Given the description of an element on the screen output the (x, y) to click on. 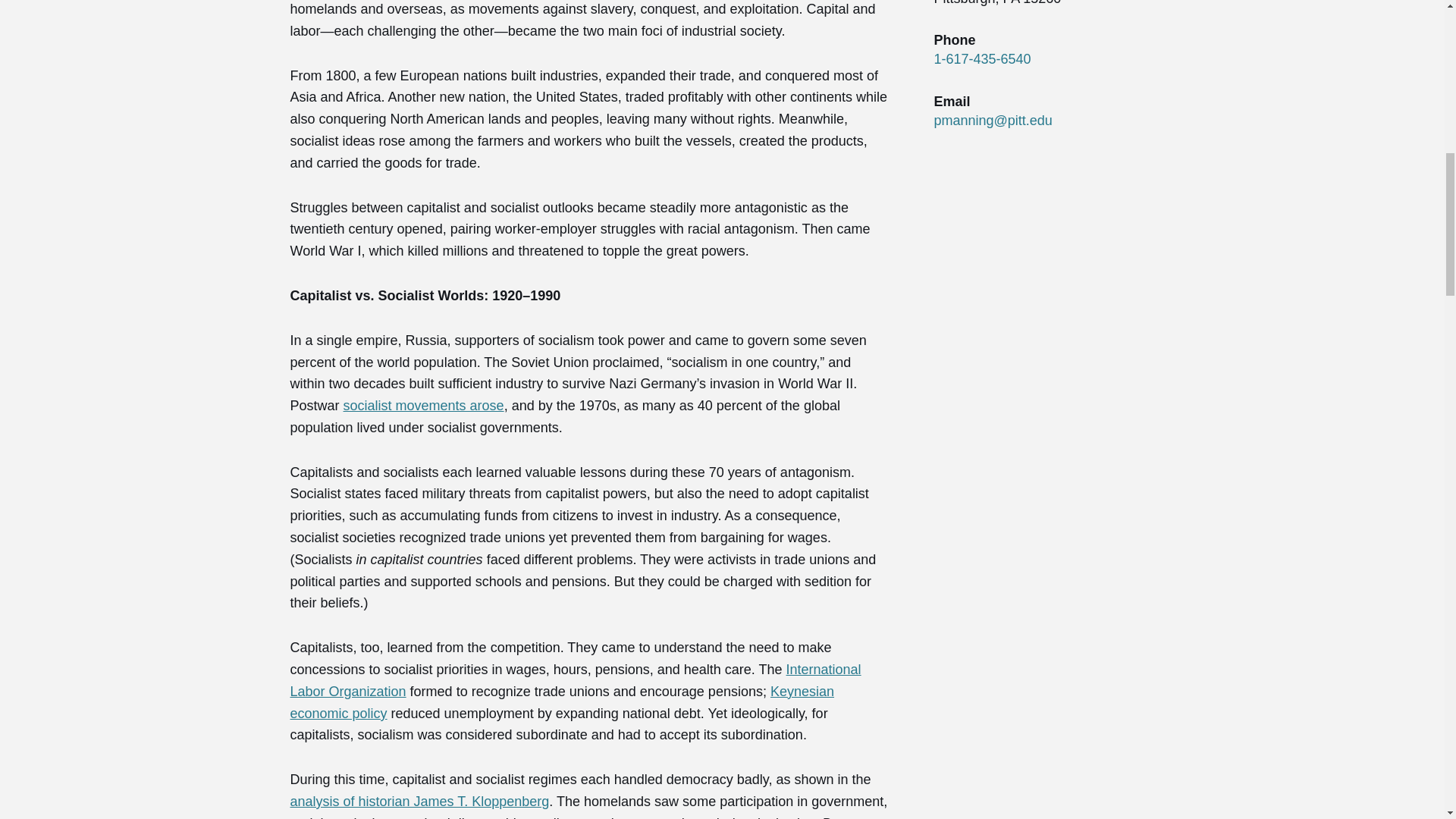
socialist movements arose (423, 405)
International Labor Organization (574, 680)
Keynesian economic policy (561, 702)
analysis of historian James T. Kloppenberg (418, 801)
